Given the description of an element on the screen output the (x, y) to click on. 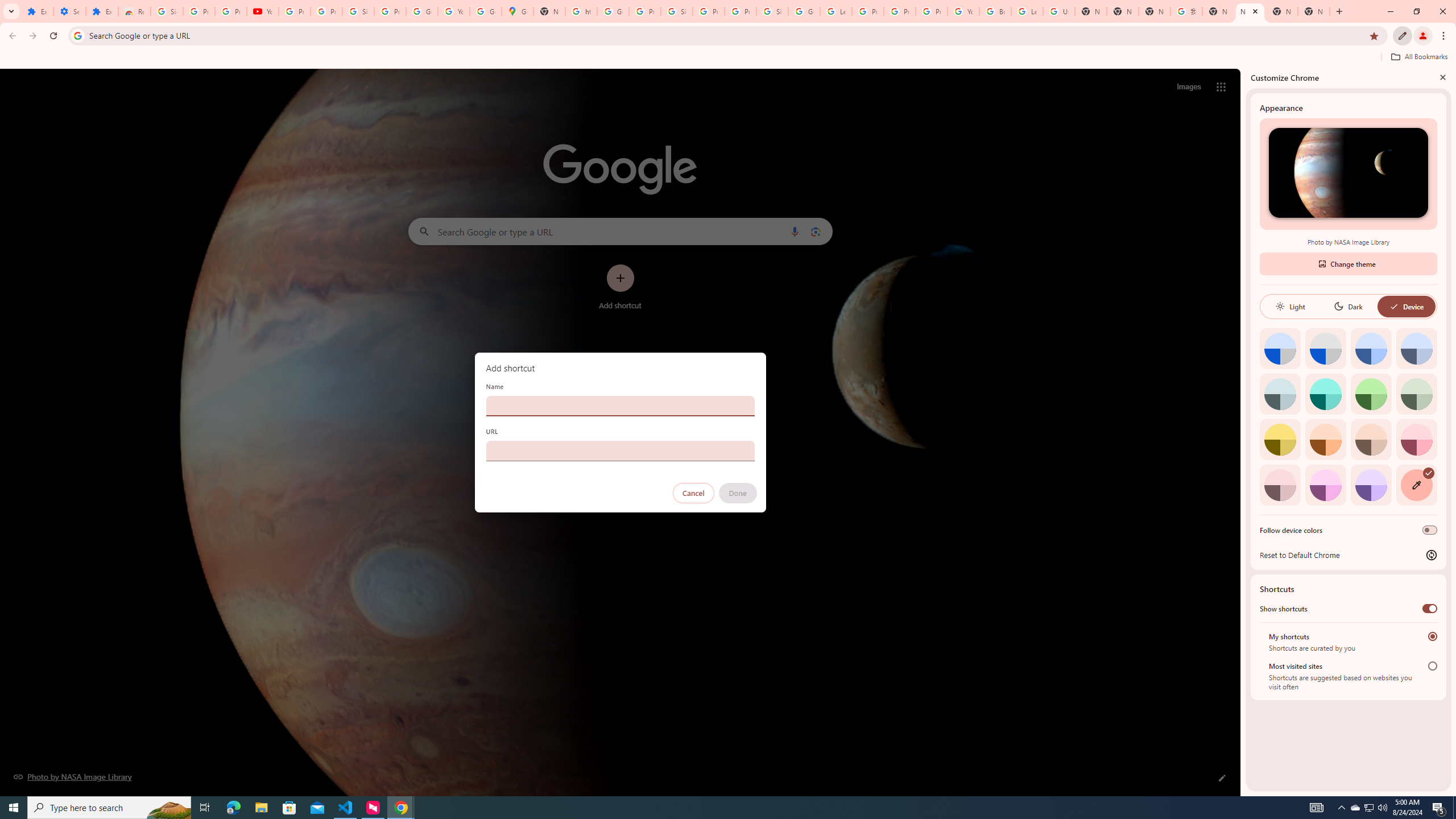
Cancel (693, 493)
Sign in - Google Accounts (166, 11)
Green (1371, 393)
Rose (1416, 439)
Extensions (37, 11)
Apricot (1371, 439)
Pink (1279, 484)
Aqua (1325, 393)
Settings (69, 11)
